Given the description of an element on the screen output the (x, y) to click on. 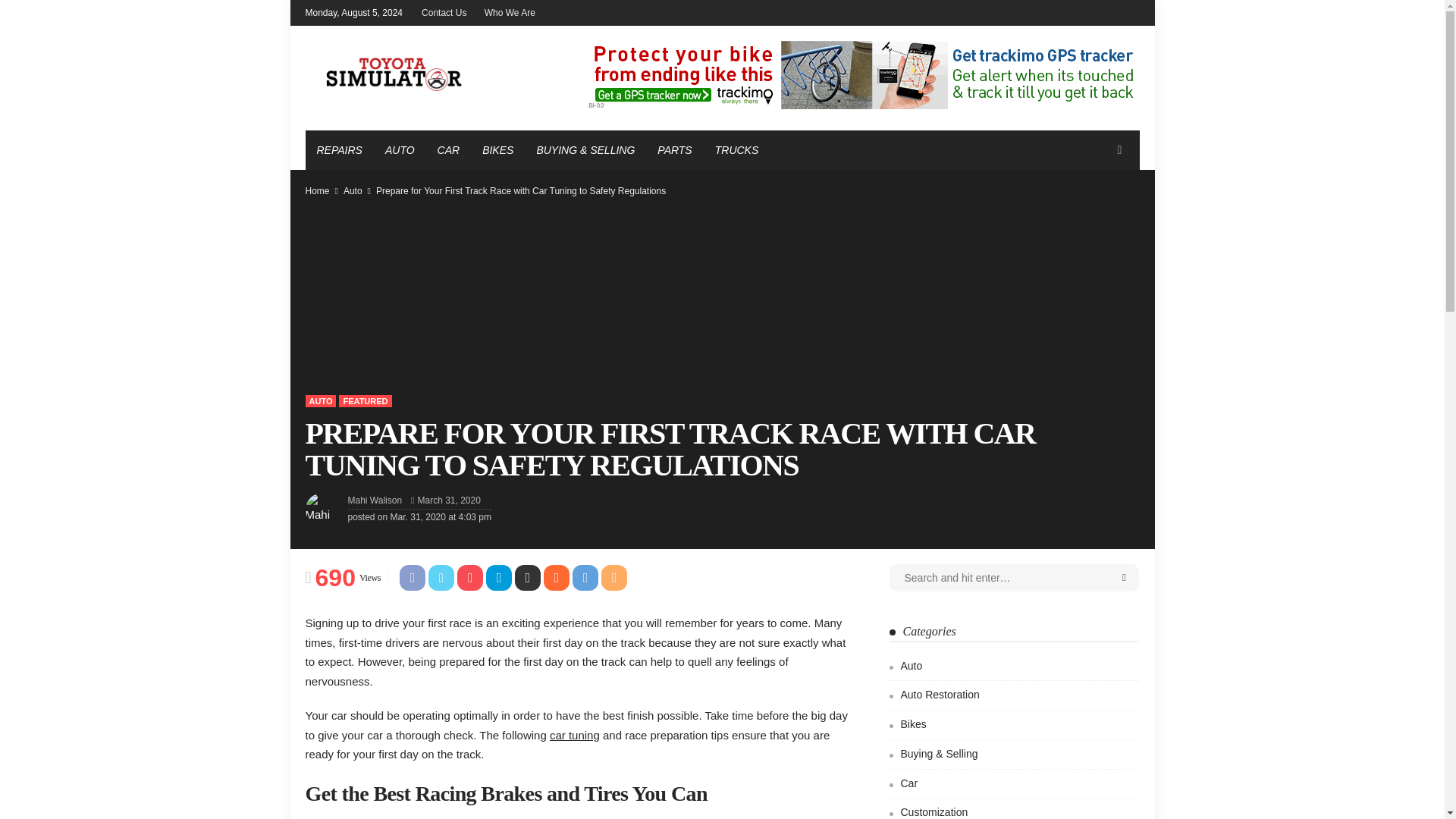
AUTO (400, 149)
Home (316, 190)
FEATURED (365, 399)
AUTO (320, 399)
Auto (352, 190)
REPAIRS (338, 149)
BIKES (497, 149)
TRUCKS (736, 149)
Mahi Walison (374, 500)
Contact Us (443, 12)
PARTS (674, 149)
CAR (448, 149)
Who We Are (510, 12)
